Given the description of an element on the screen output the (x, y) to click on. 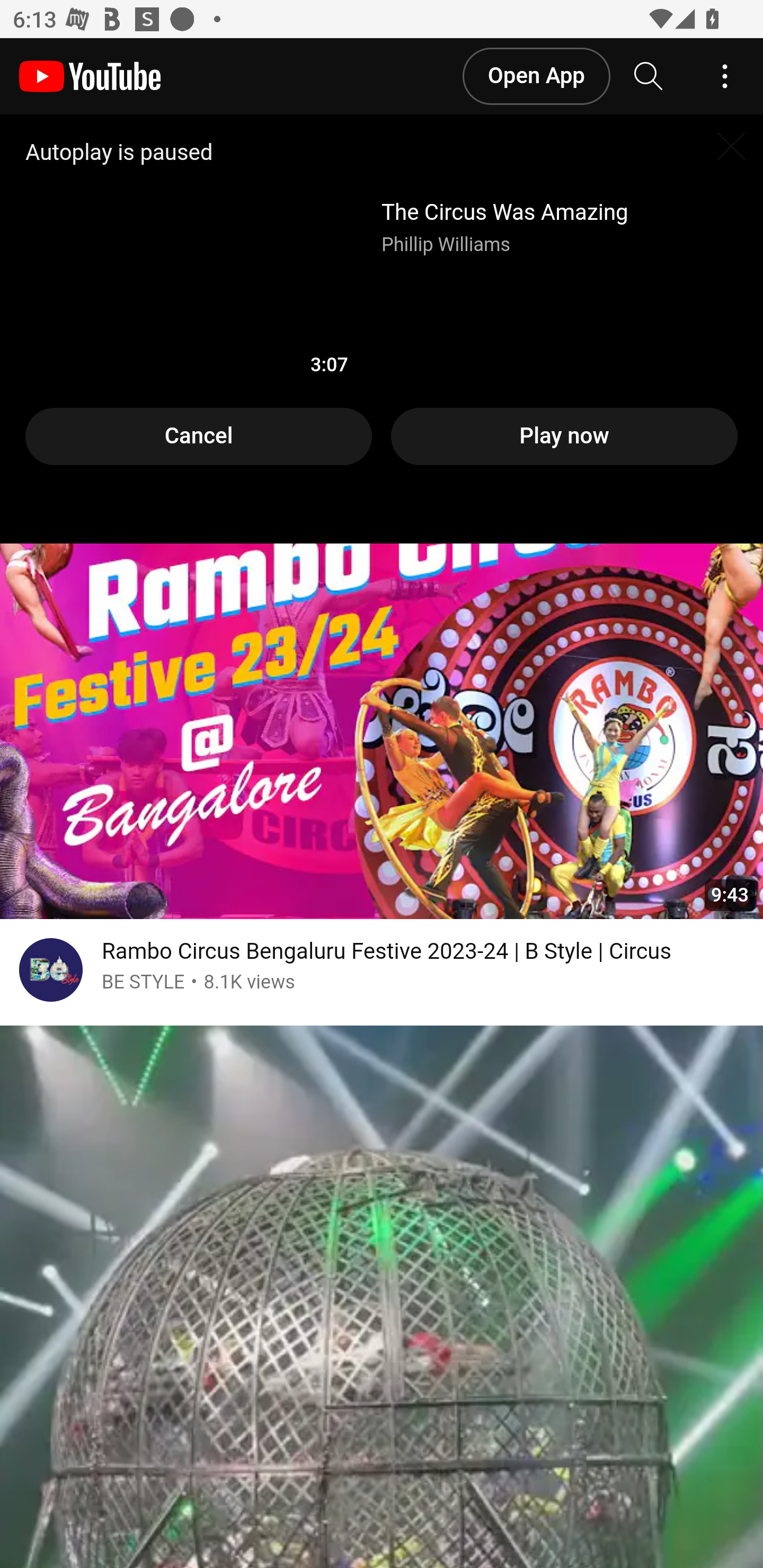
YouTube (89, 76)
Search YouTube (648, 76)
Account (724, 76)
Open App (535, 76)
YouTube Video Player (381, 329)
Go to channel (50, 973)
